Given the description of an element on the screen output the (x, y) to click on. 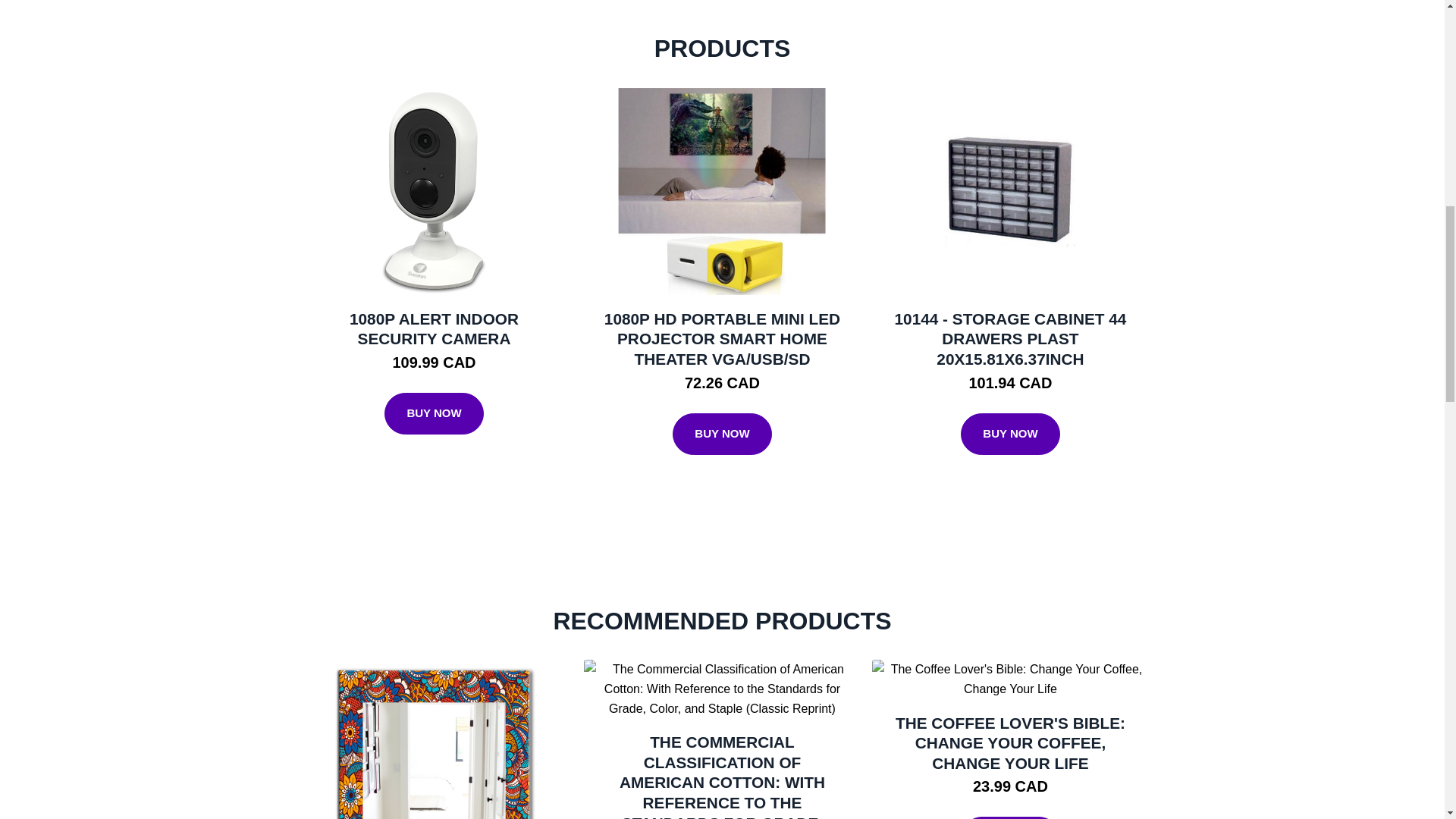
BUY NOW (721, 434)
BUY NOW (433, 413)
BUY NOW (1009, 817)
1080P ALERT INDOOR SECURITY CAMERA (433, 329)
BUY NOW (1009, 434)
10144 - STORAGE CABINET 44 DRAWERS PLAST 20X15.81X6.37INCH (1010, 338)
